Given the description of an element on the screen output the (x, y) to click on. 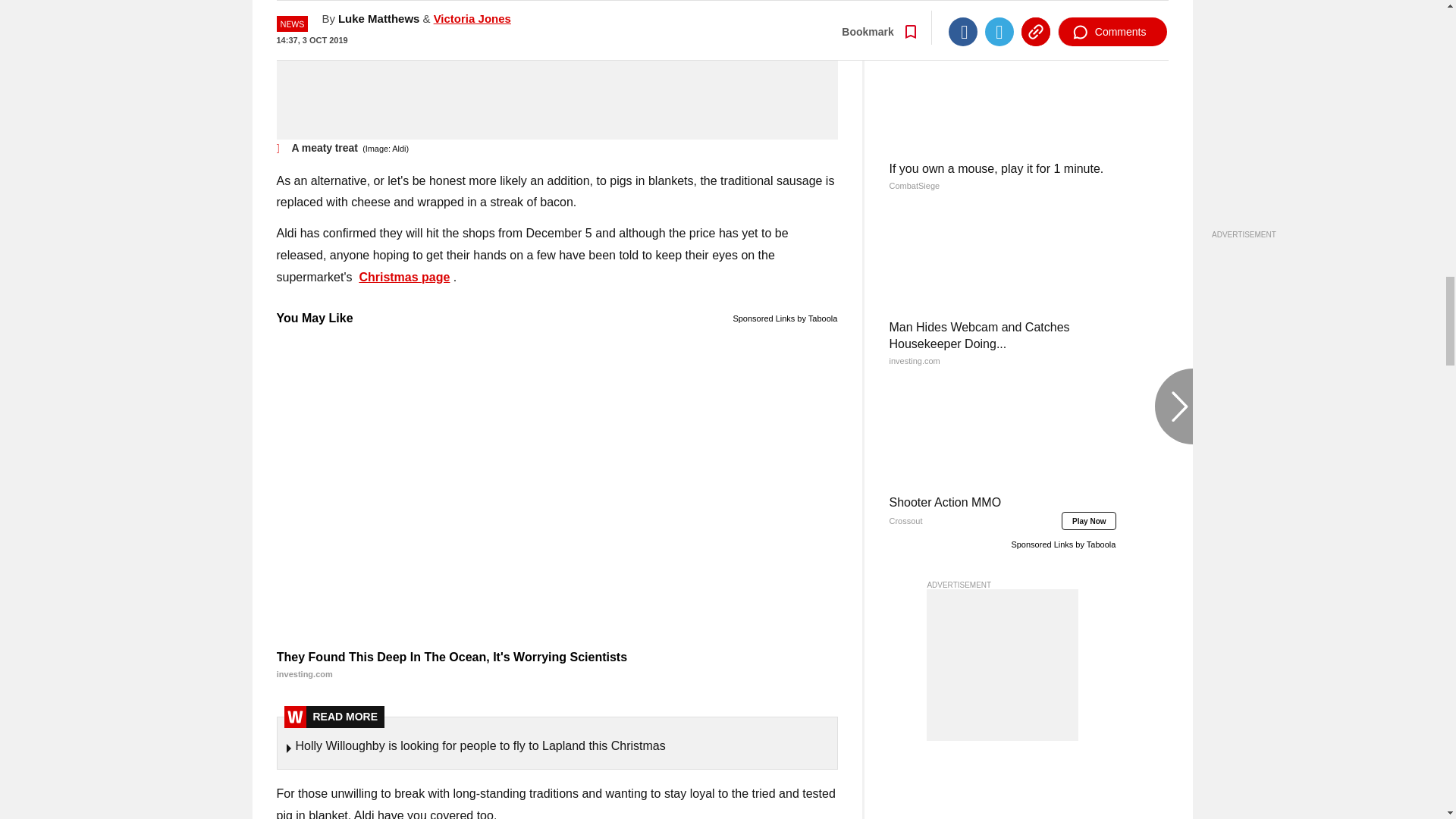
They Found This Deep In The Ocean, It's Worrying Scientists (557, 665)
